Given the description of an element on the screen output the (x, y) to click on. 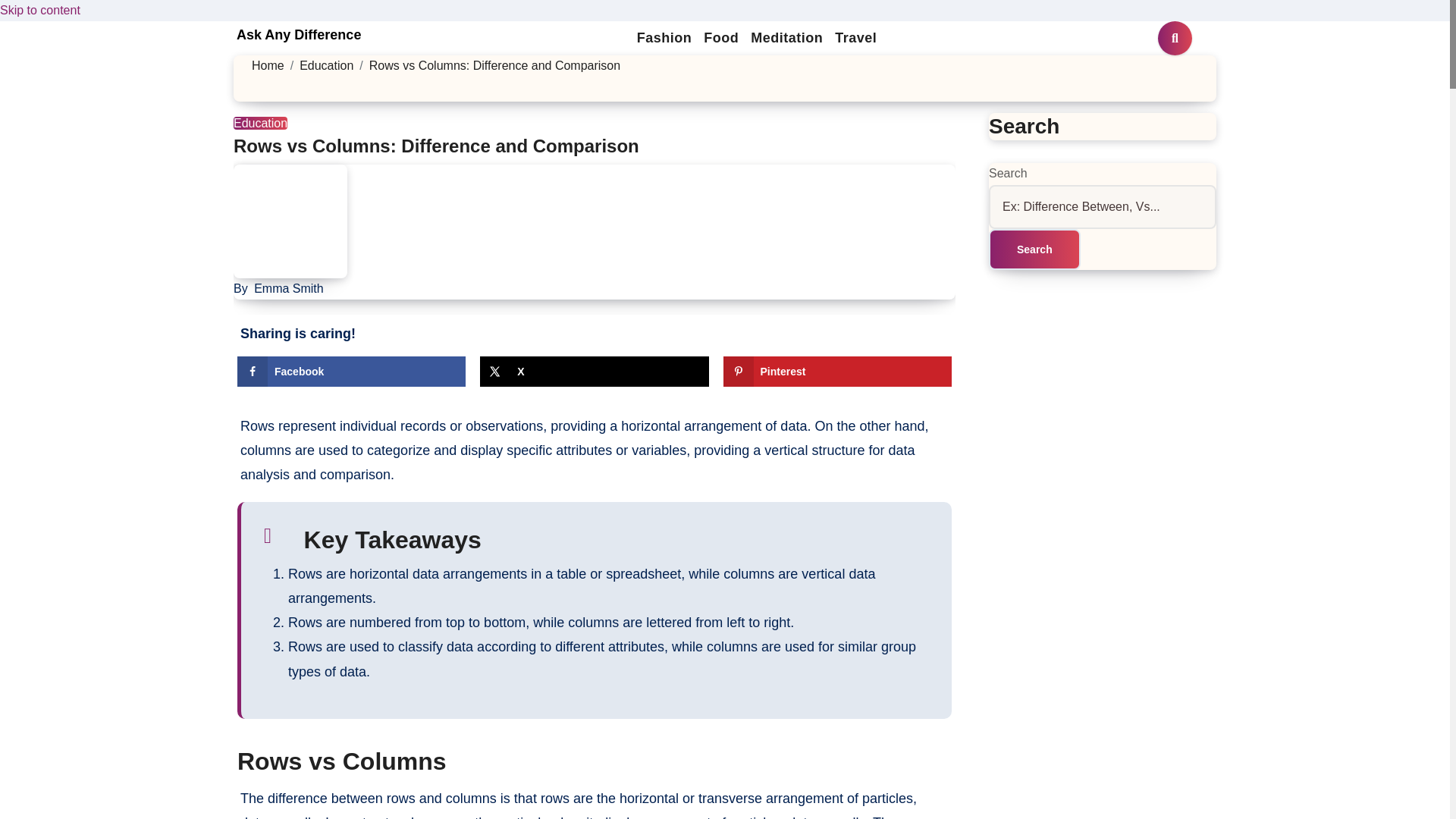
Education (259, 123)
Food (720, 37)
Home (267, 65)
Rows vs Columns: Difference and Comparison (435, 145)
Meditation (786, 37)
Permalink to: Rows vs Columns: Difference and Comparison (435, 145)
Share on Facebook (351, 371)
Share on X (593, 371)
Fashion (664, 37)
Save to Pinterest (837, 371)
Pinterest (837, 371)
Food (720, 37)
Travel (855, 37)
Ask Any Difference (298, 34)
Meditation (786, 37)
